Given the description of an element on the screen output the (x, y) to click on. 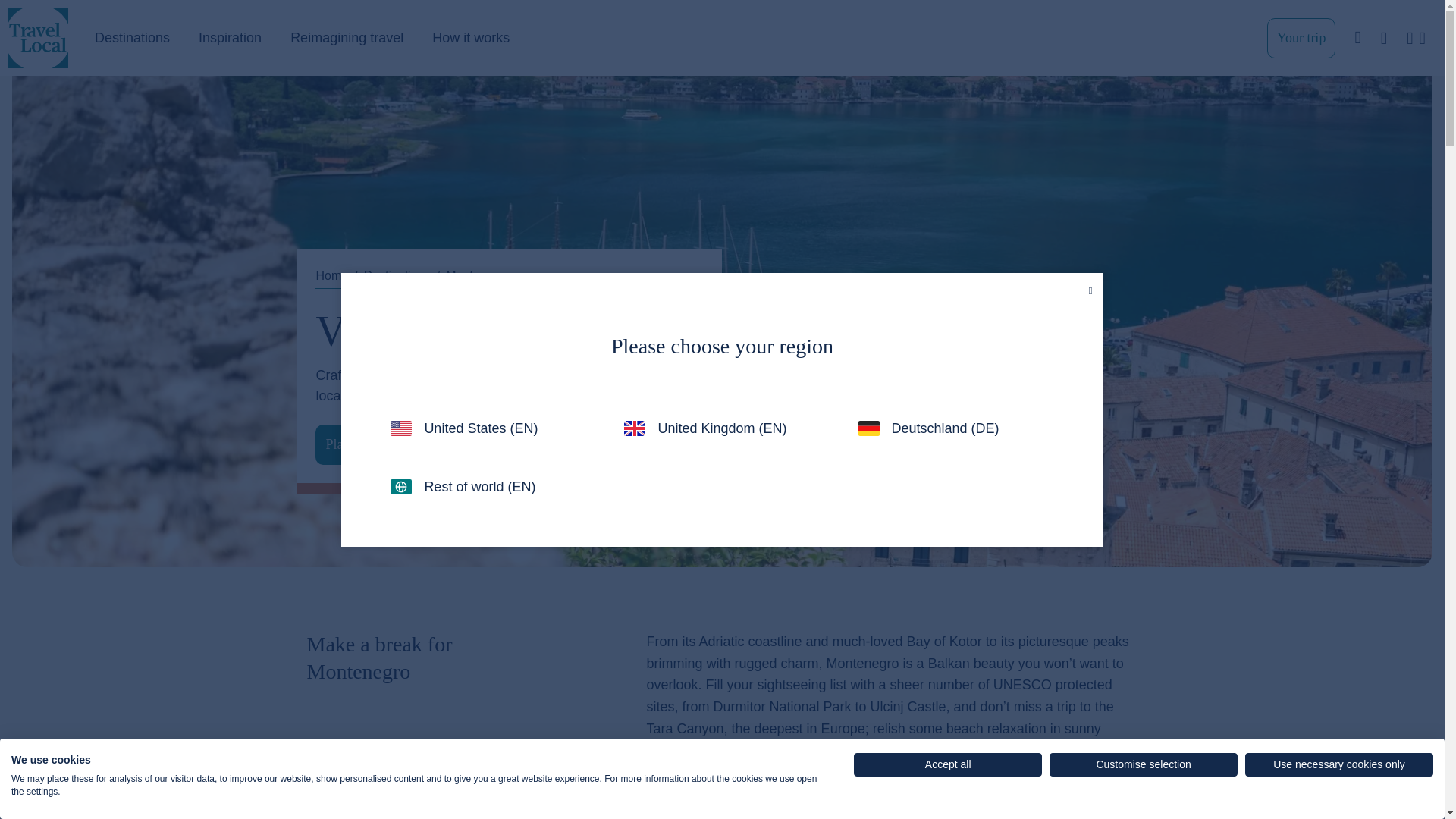
Your account (1415, 37)
Destinations (131, 38)
